Given the description of an element on the screen output the (x, y) to click on. 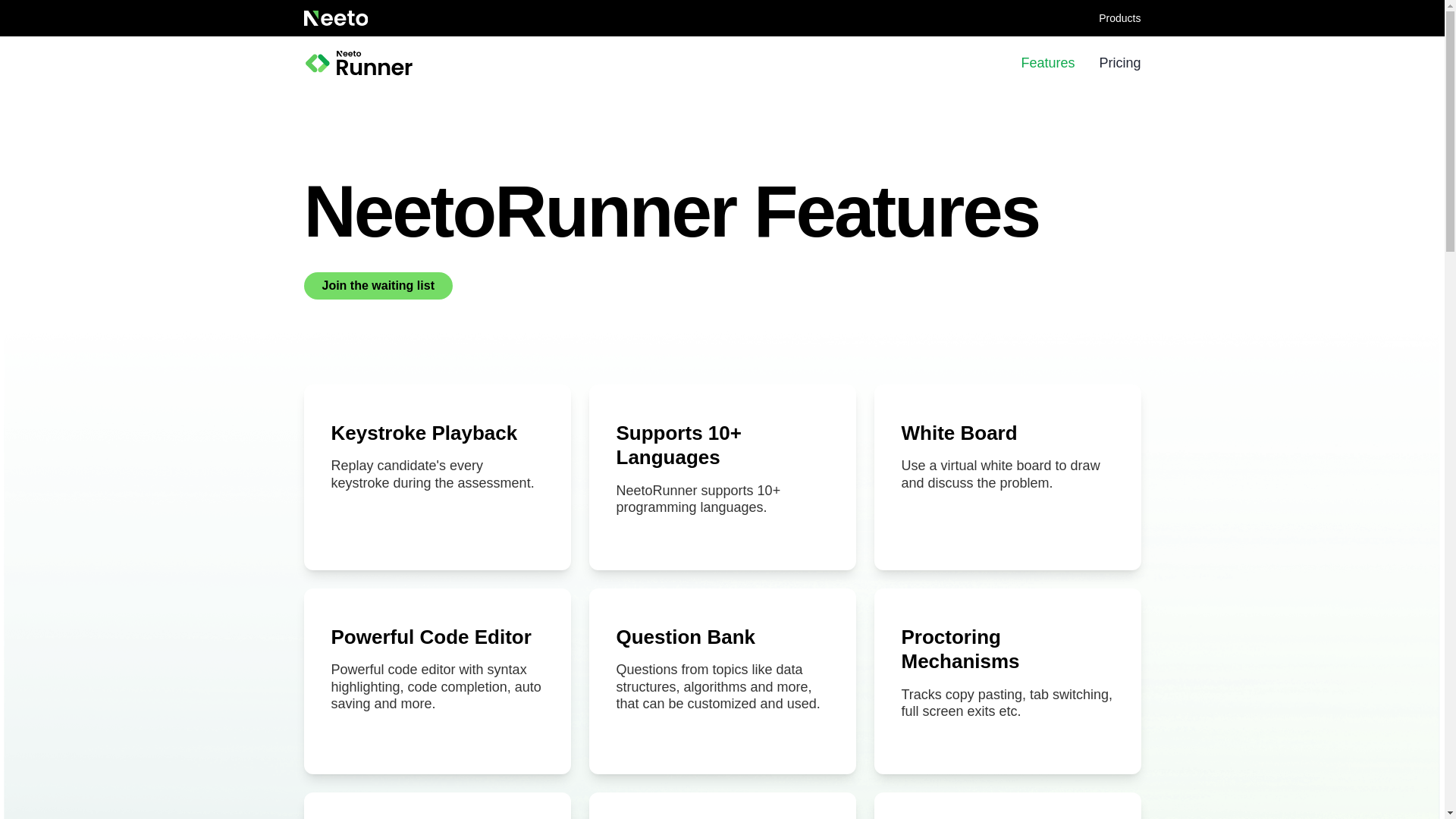
Products (1119, 18)
Features (1047, 63)
Join the waiting list (376, 284)
Pricing (1119, 63)
